Given the description of an element on the screen output the (x, y) to click on. 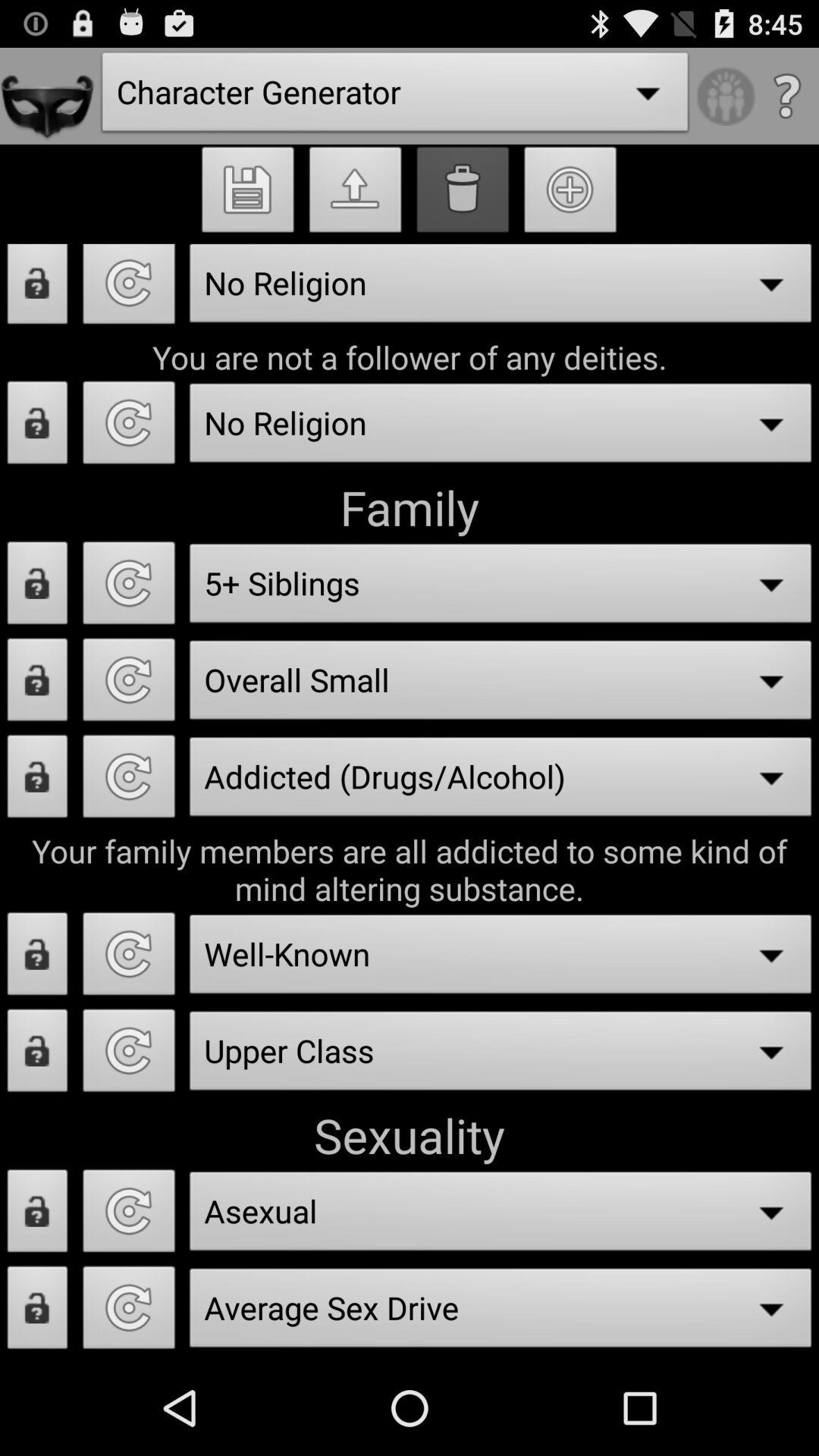
lock page (37, 1054)
